Given the description of an element on the screen output the (x, y) to click on. 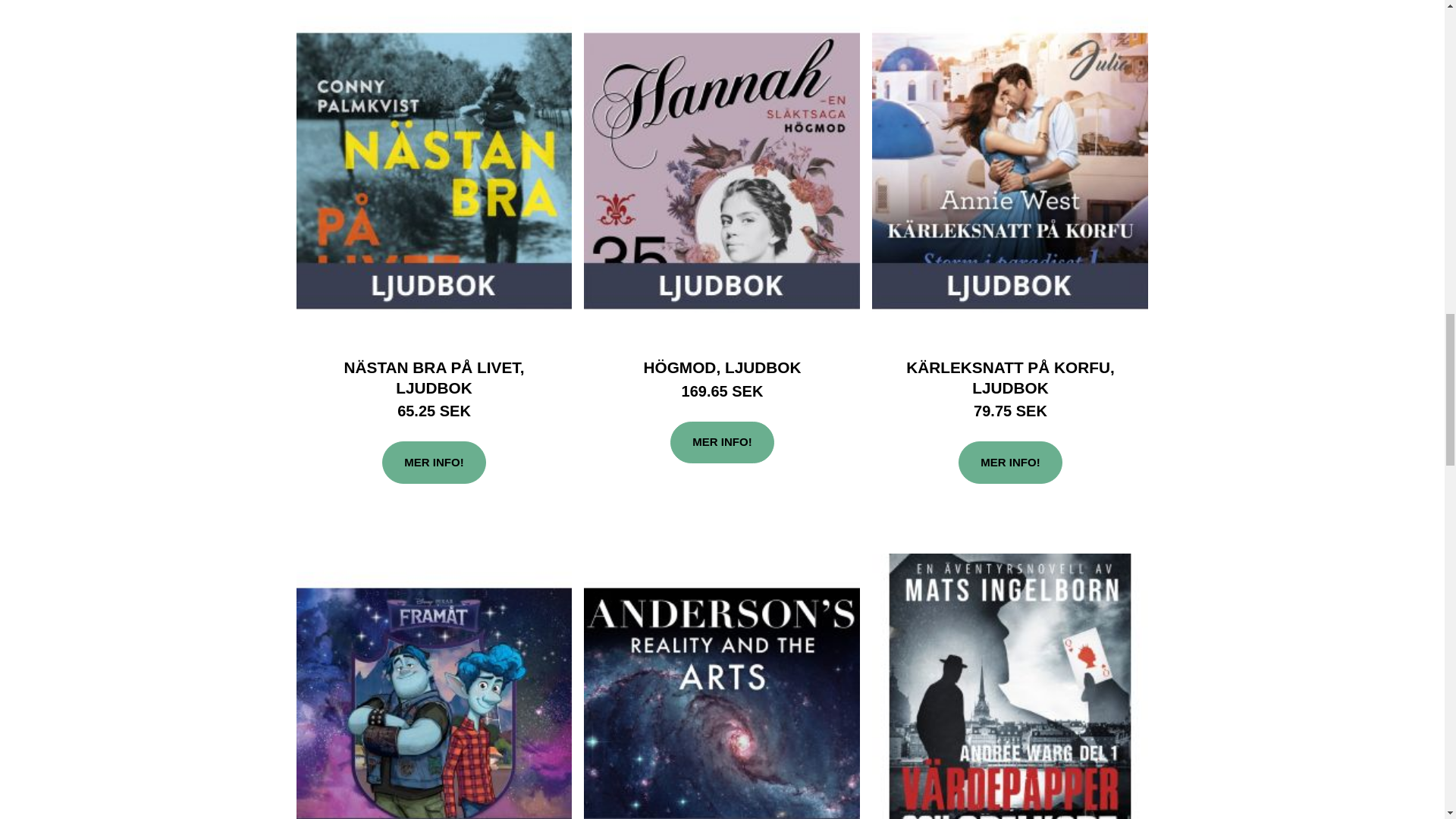
MER INFO! (432, 462)
MER INFO! (1009, 462)
MER INFO! (721, 442)
